Given the description of an element on the screen output the (x, y) to click on. 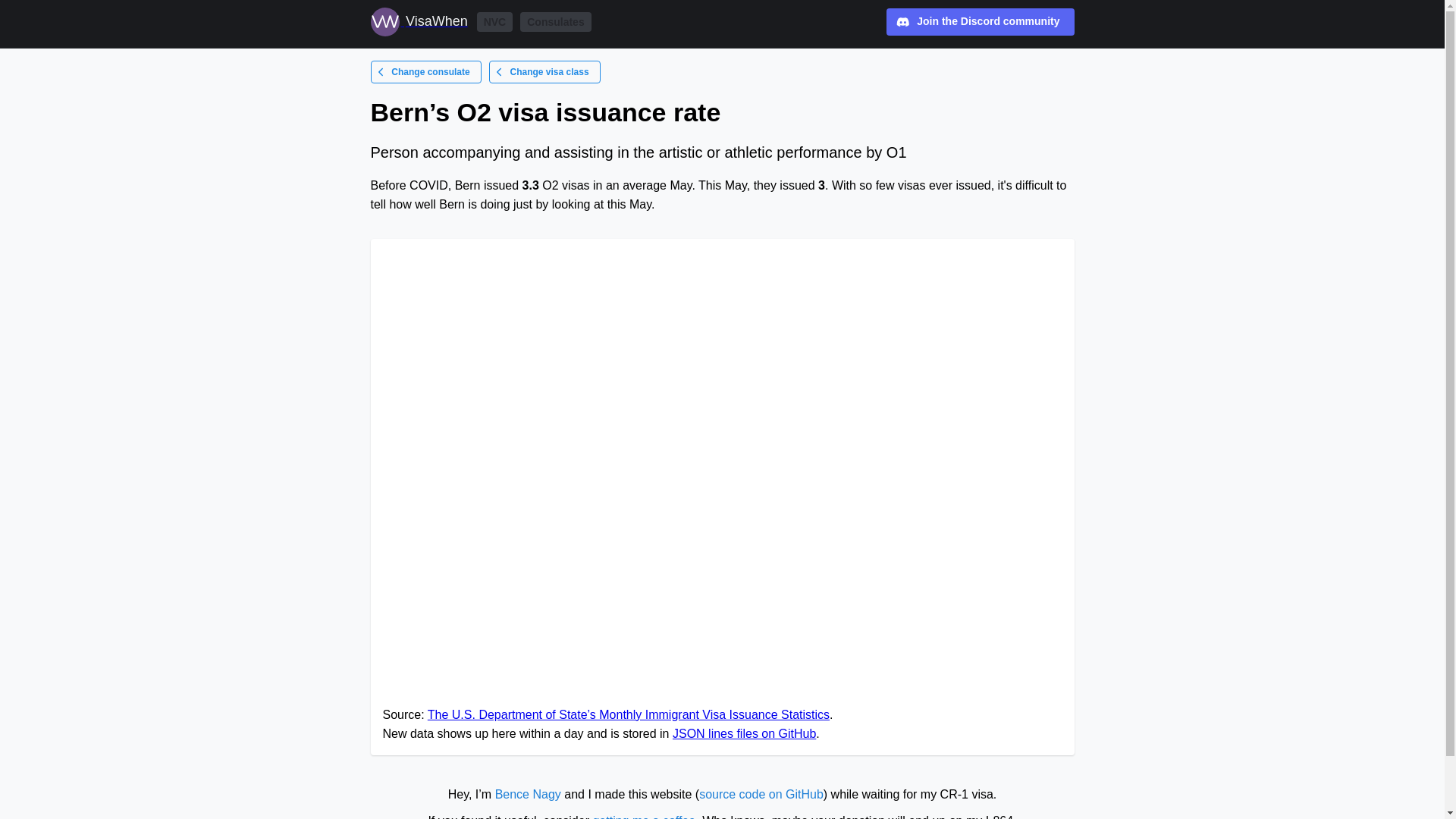
JSON lines files on GitHub (743, 733)
 VisaWhen (418, 21)
NVC (495, 21)
Join the Discord community (980, 22)
source code on GitHub (761, 793)
Change consulate (424, 71)
Consulates (555, 21)
getting me a coffee (643, 816)
Change visa class (544, 71)
Bence Nagy (527, 793)
